Given the description of an element on the screen output the (x, y) to click on. 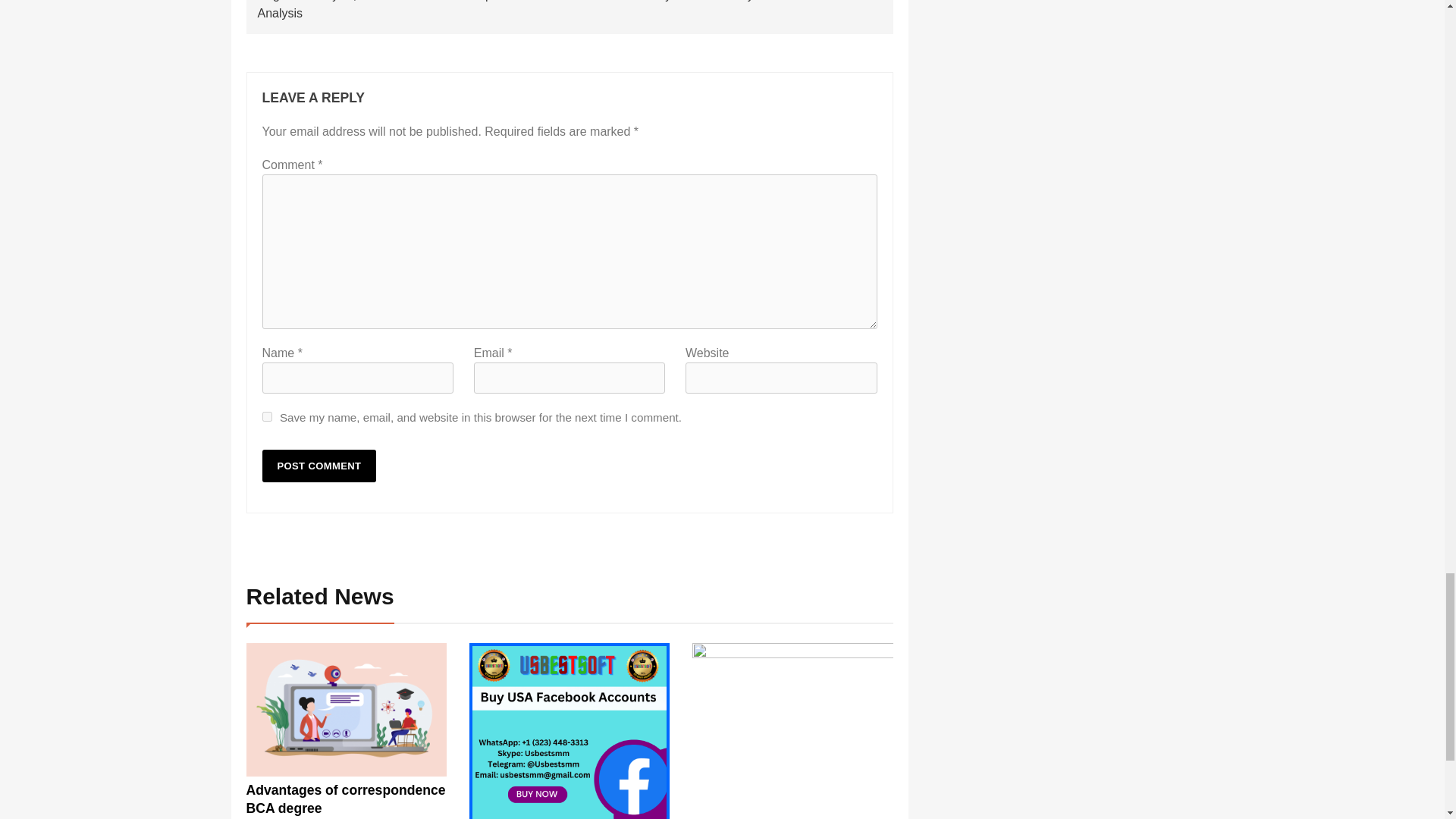
yes (267, 416)
Post Comment (319, 465)
